Given the description of an element on the screen output the (x, y) to click on. 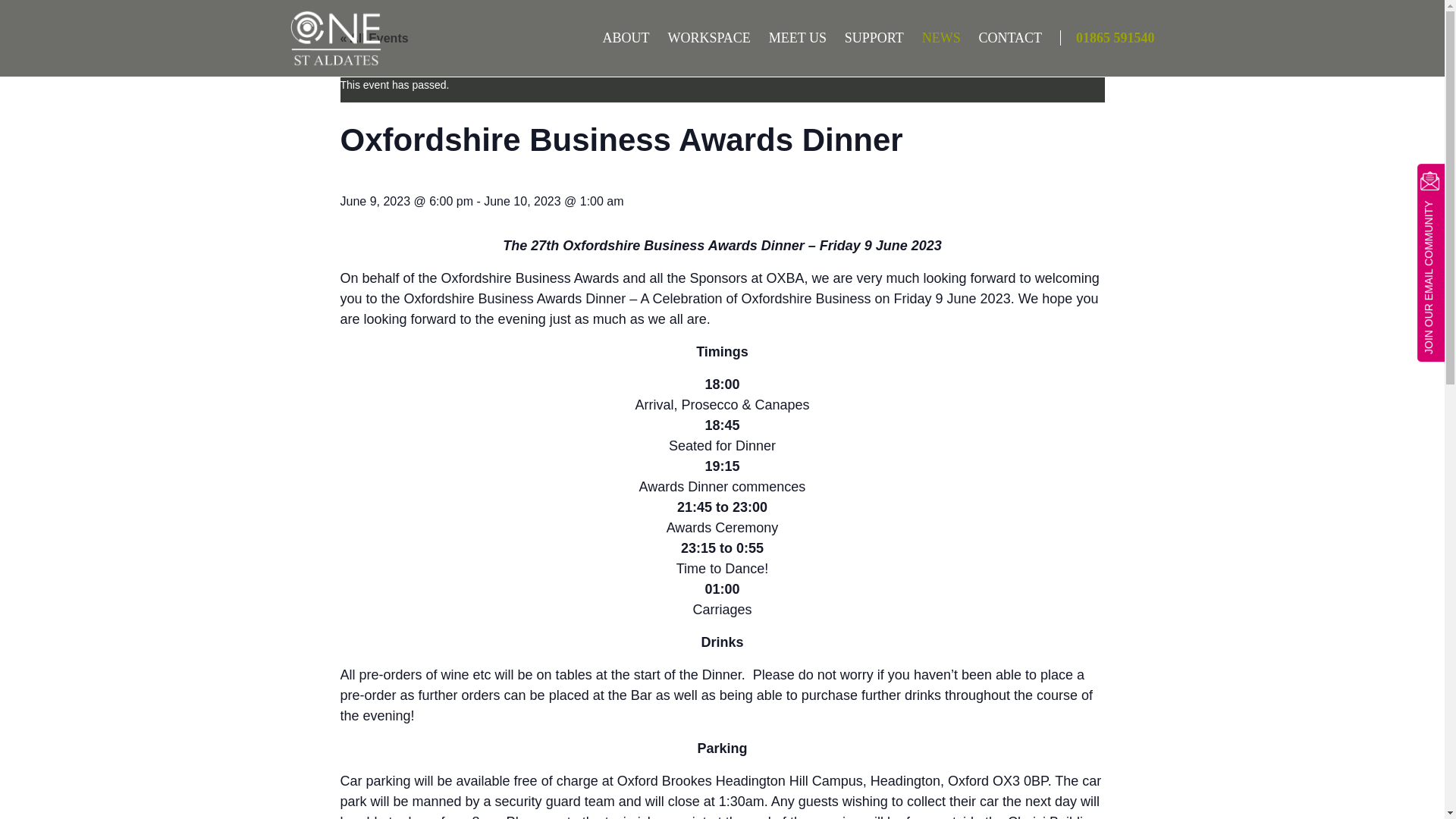
MEET US (790, 37)
ABOUT (618, 37)
SUPPORT (866, 37)
NEWS (933, 37)
WORKSPACE (700, 37)
CONTACT (1002, 37)
